Given the description of an element on the screen output the (x, y) to click on. 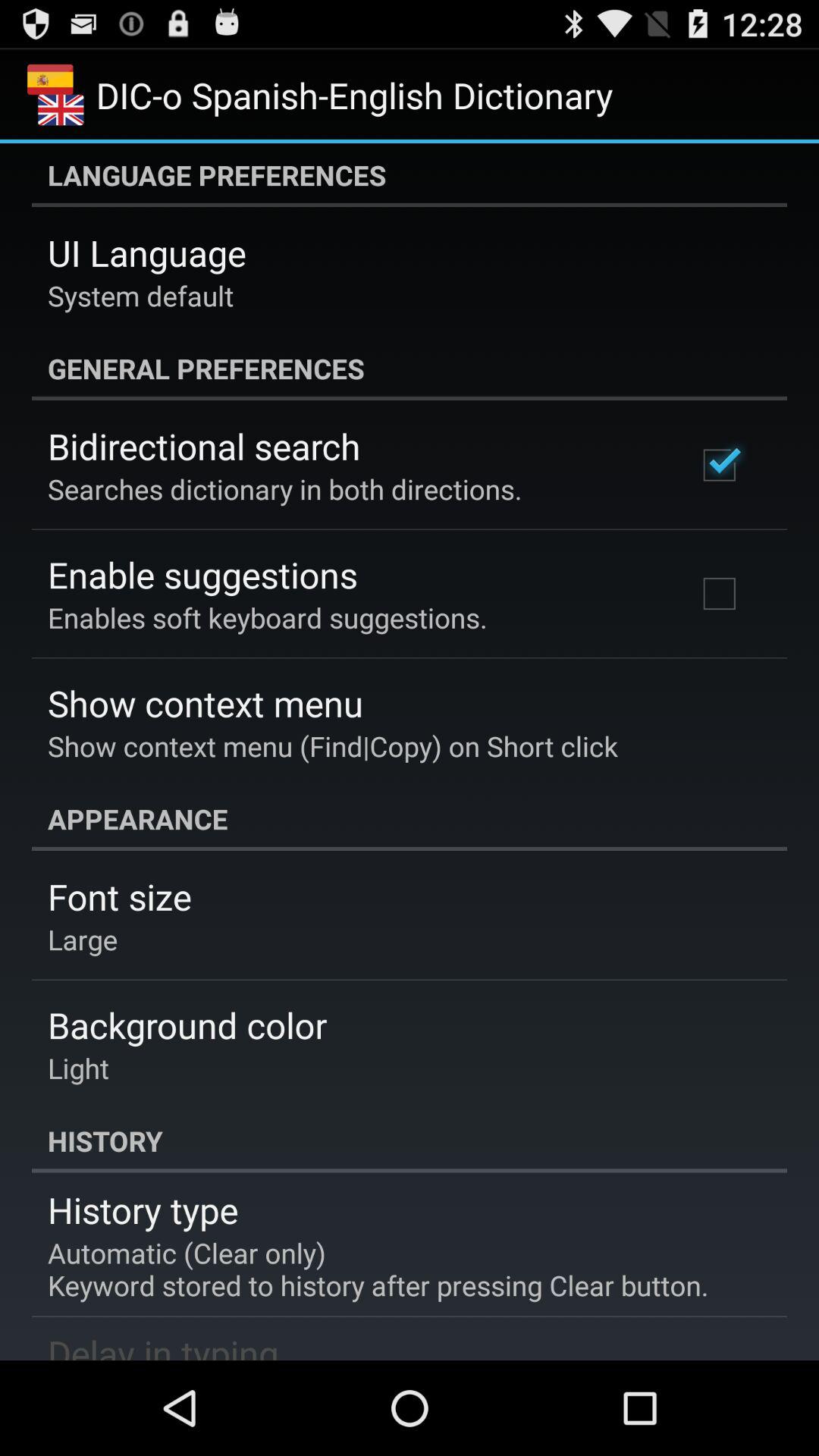
flip until the ui language item (146, 252)
